Given the description of an element on the screen output the (x, y) to click on. 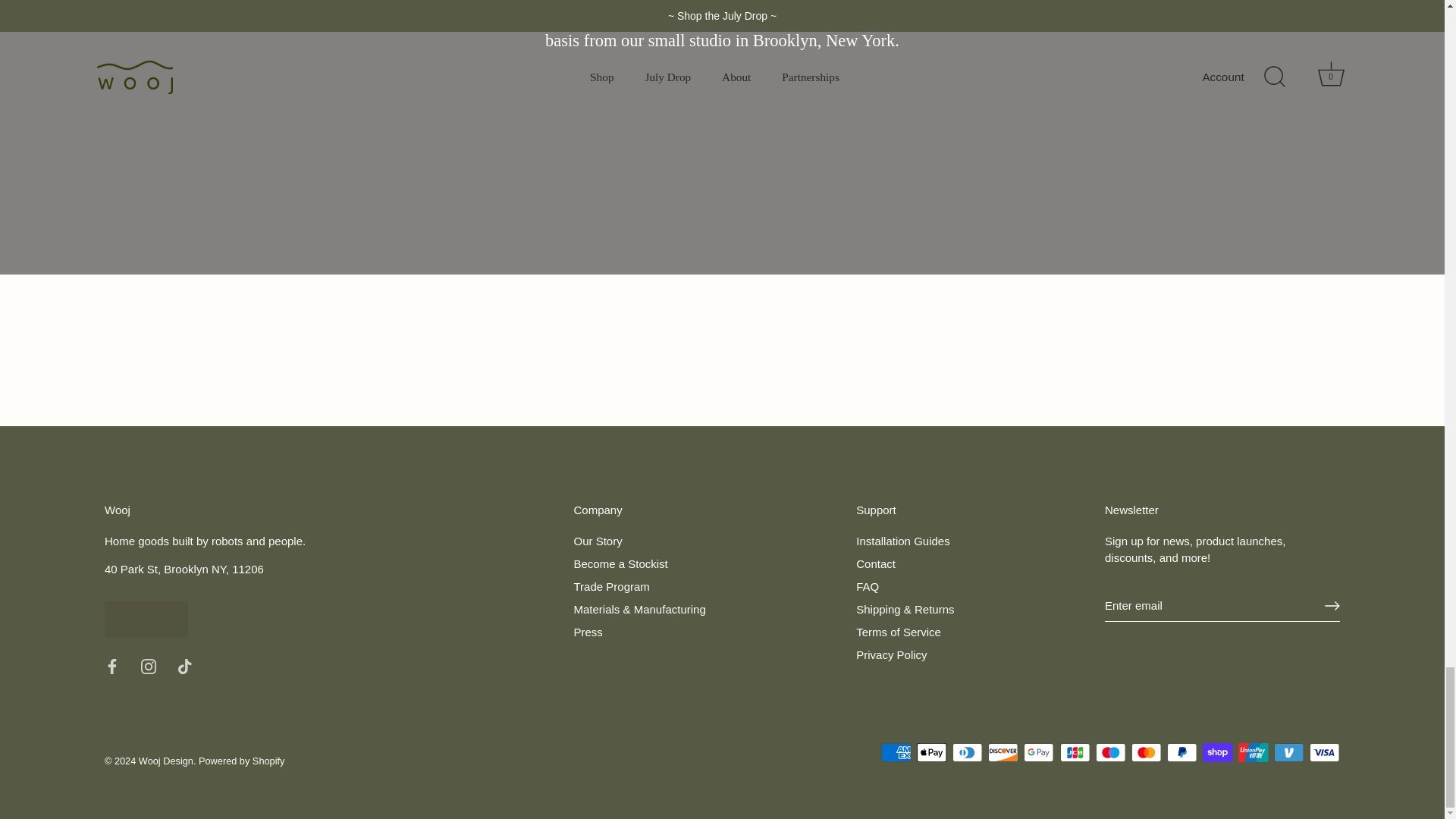
RIGHT ARROW LONG (1331, 605)
Instagram (148, 666)
American Express (895, 752)
